Given the description of an element on the screen output the (x, y) to click on. 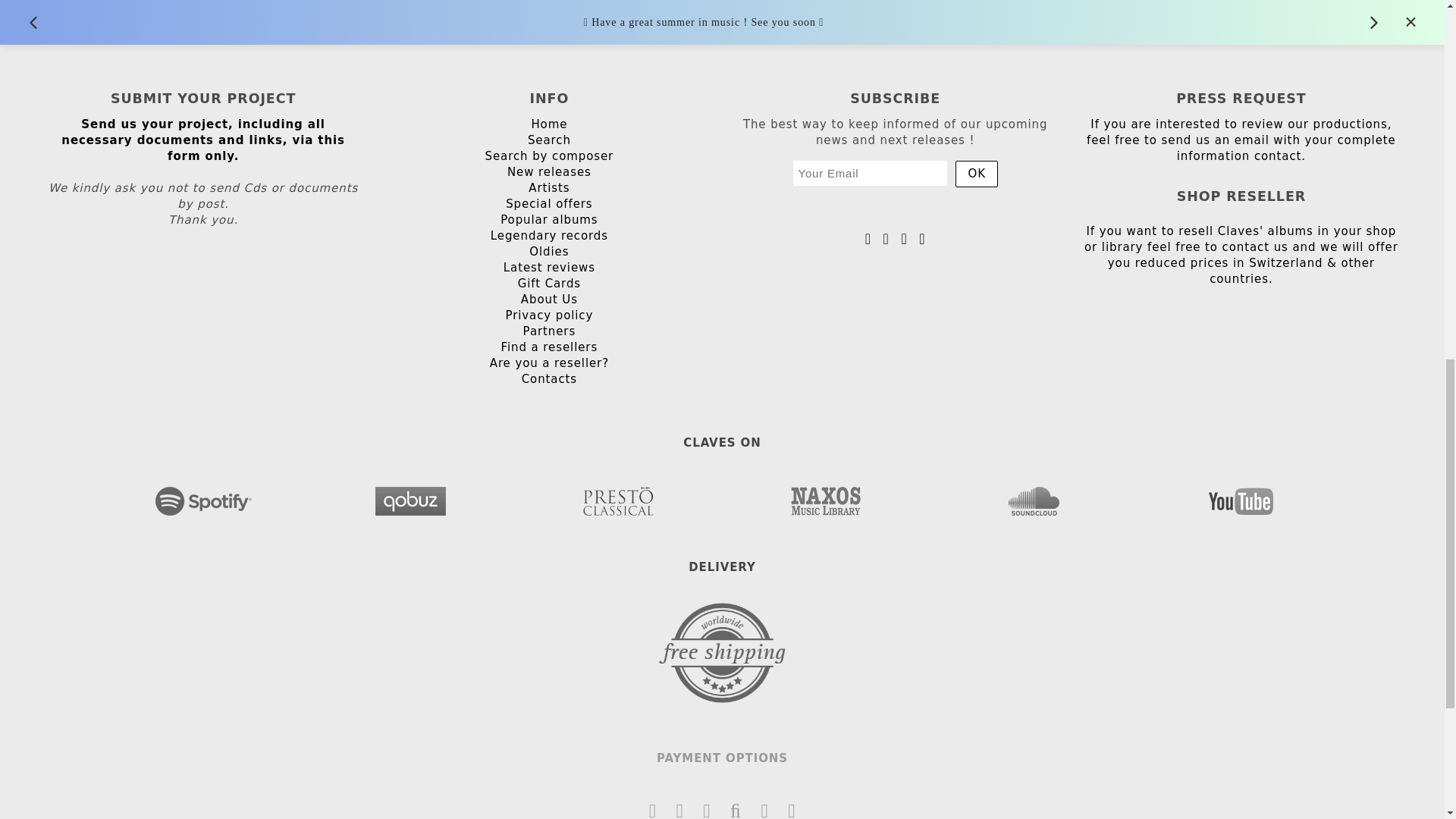
OK (976, 173)
